Given the description of an element on the screen output the (x, y) to click on. 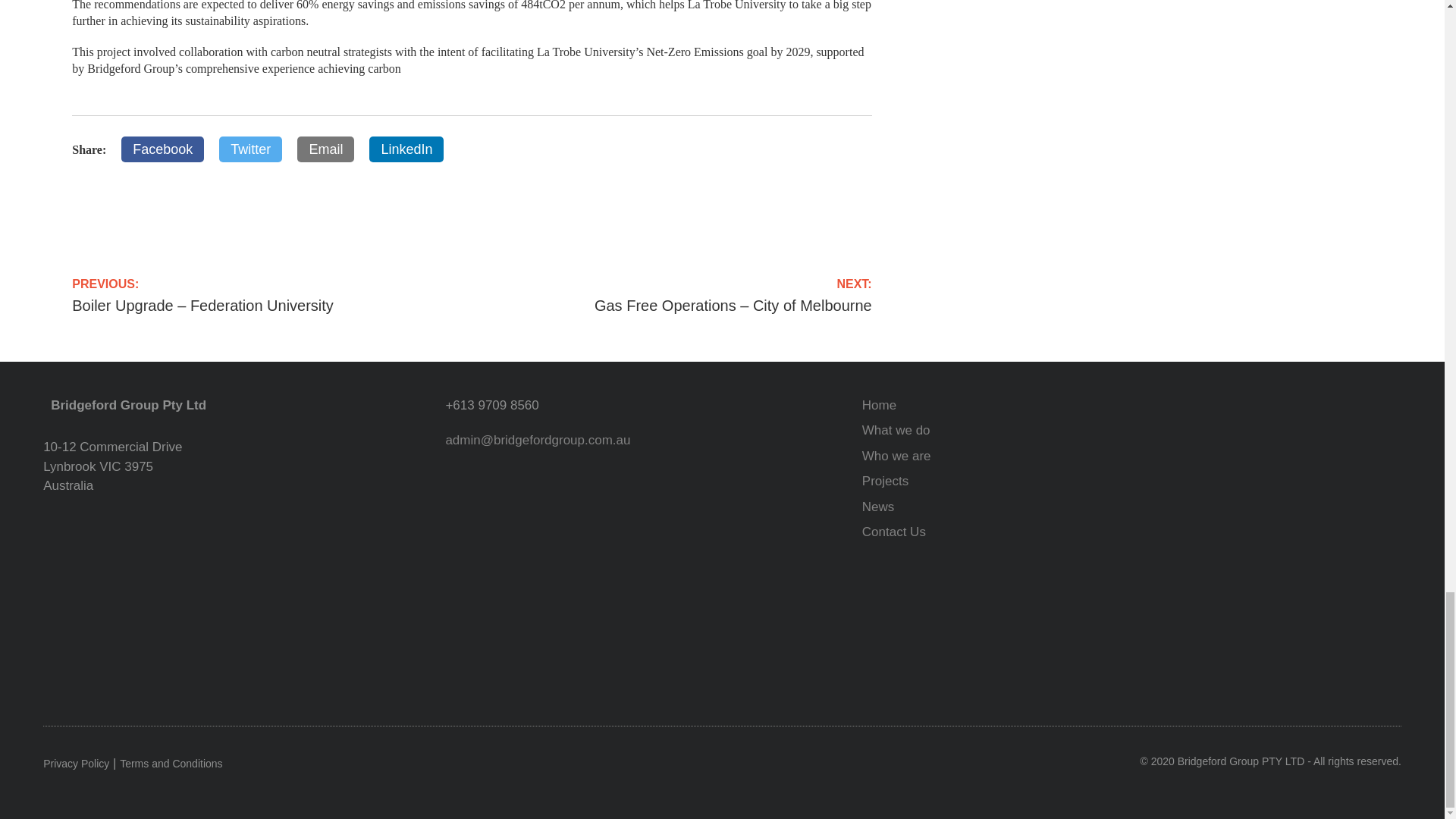
Click to share this post on Twitter (250, 149)
Twitter (250, 149)
Facebook (161, 149)
Email (325, 149)
